Given the description of an element on the screen output the (x, y) to click on. 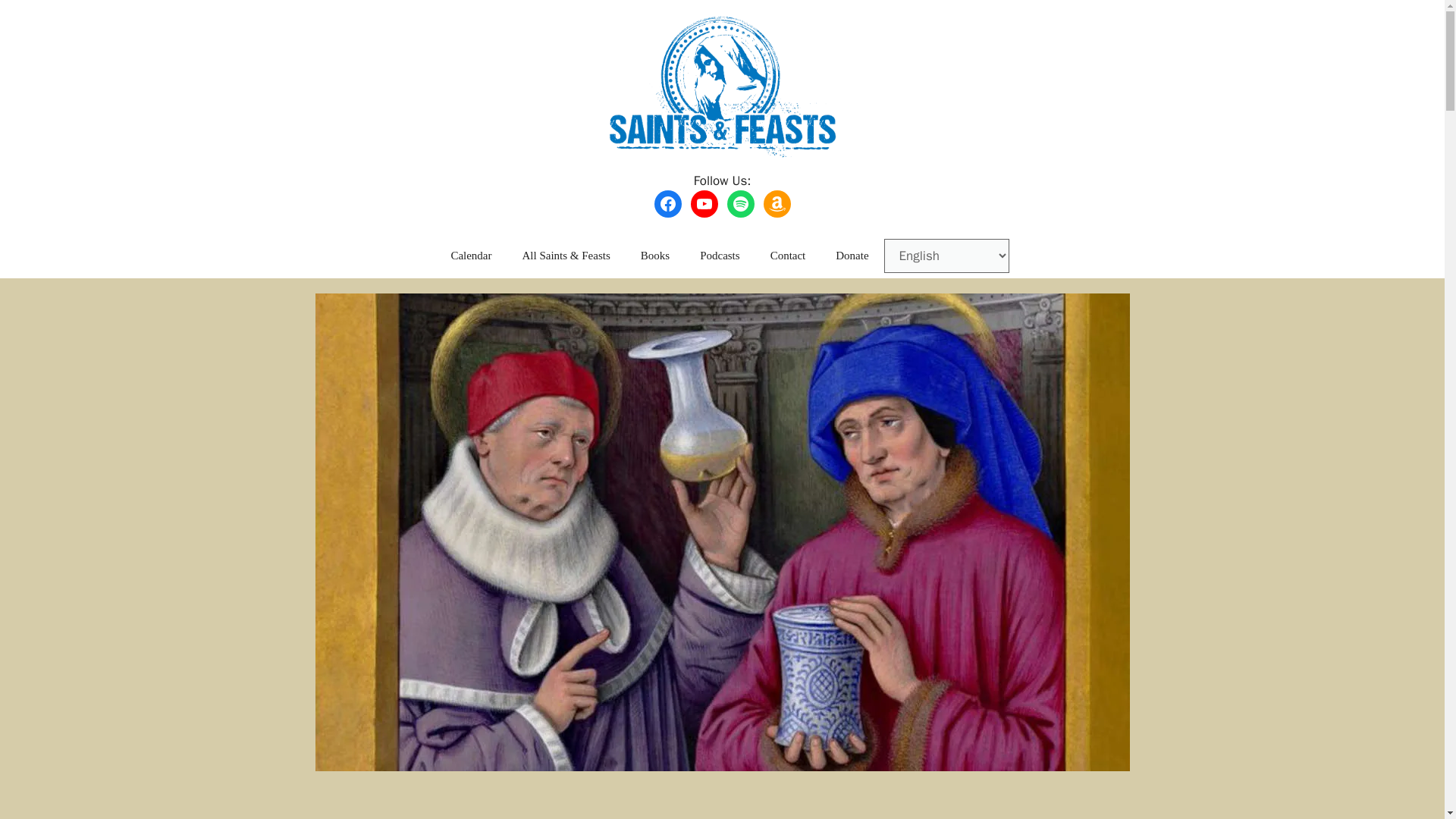
YouTube (703, 203)
Contact (788, 255)
Podcasts (719, 255)
Facebook (667, 203)
Books (655, 255)
Spotify (740, 203)
Calendar (470, 255)
Amazon (776, 203)
Donate (852, 255)
